Given the description of an element on the screen output the (x, y) to click on. 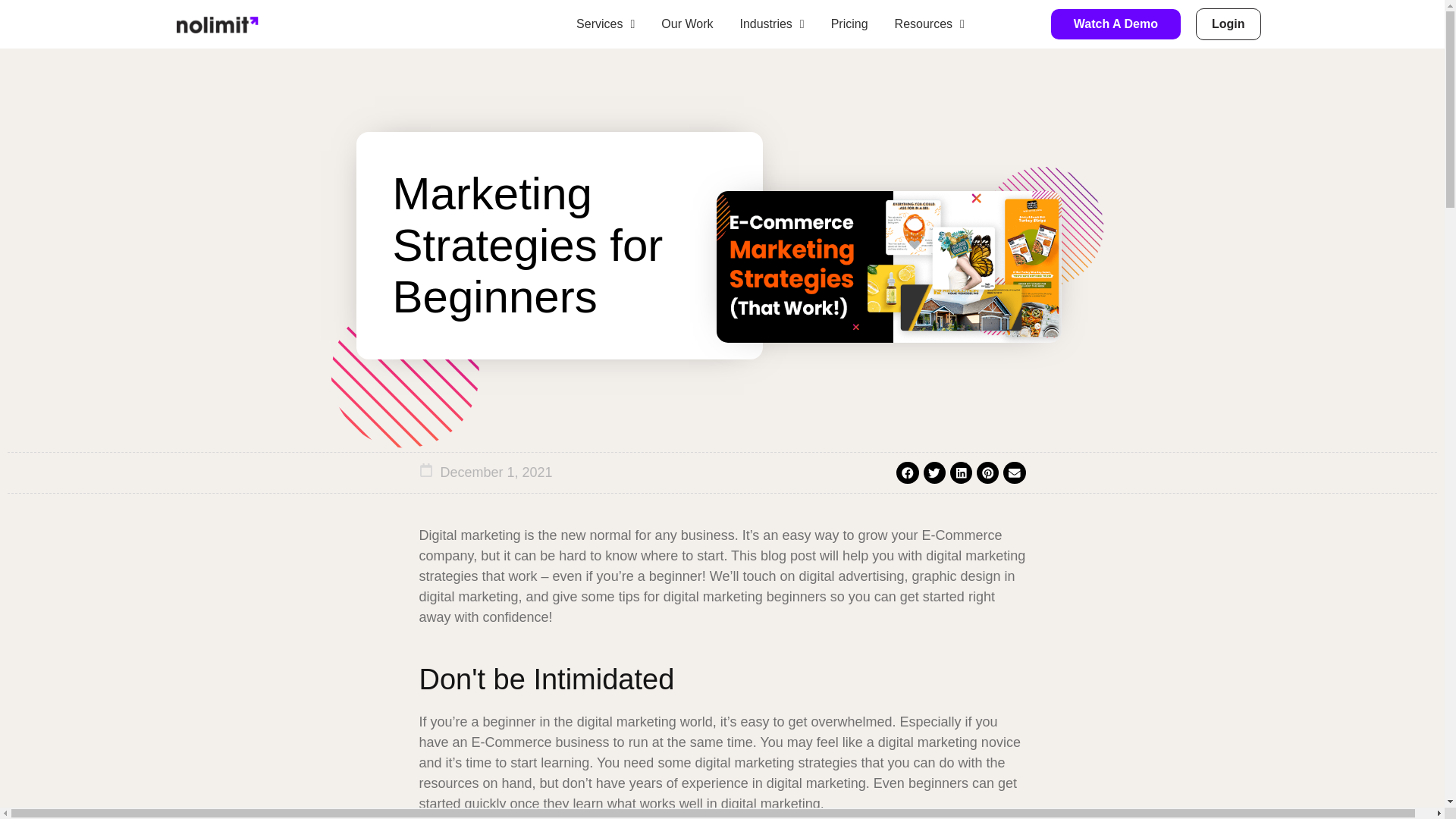
Watch A Demo (1115, 24)
Resources (929, 23)
Services (606, 23)
December 1, 2021 (495, 472)
Our Work (686, 23)
Login (1227, 24)
Pricing (850, 23)
Industries (772, 23)
